Given the description of an element on the screen output the (x, y) to click on. 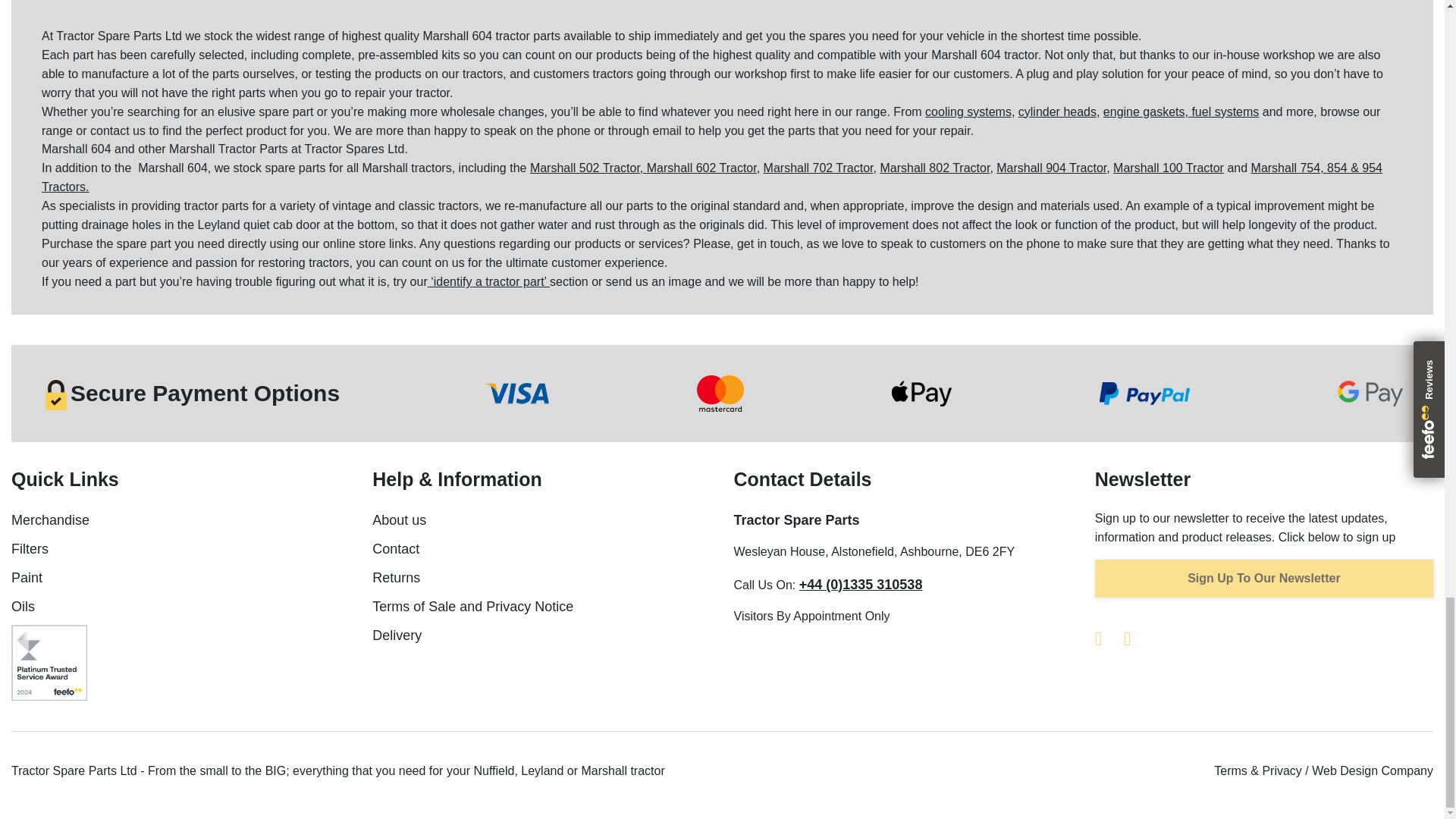
Marshall 602 tractor (703, 167)
